Given the description of an element on the screen output the (x, y) to click on. 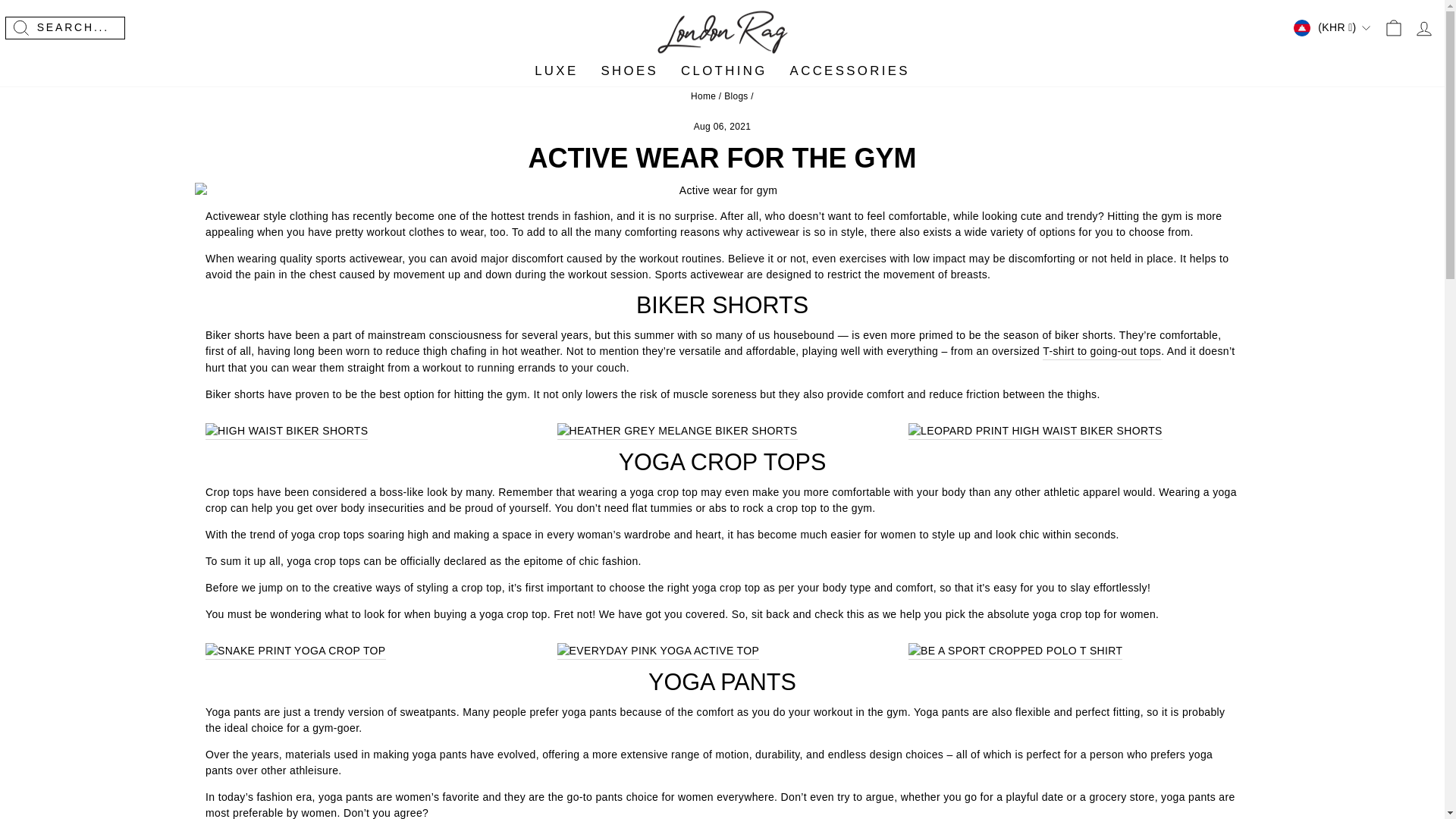
Back to the frontpage (703, 95)
ACCOUNT (1423, 28)
ICON-BAG-MINIMAL (1394, 27)
